Given the description of an element on the screen output the (x, y) to click on. 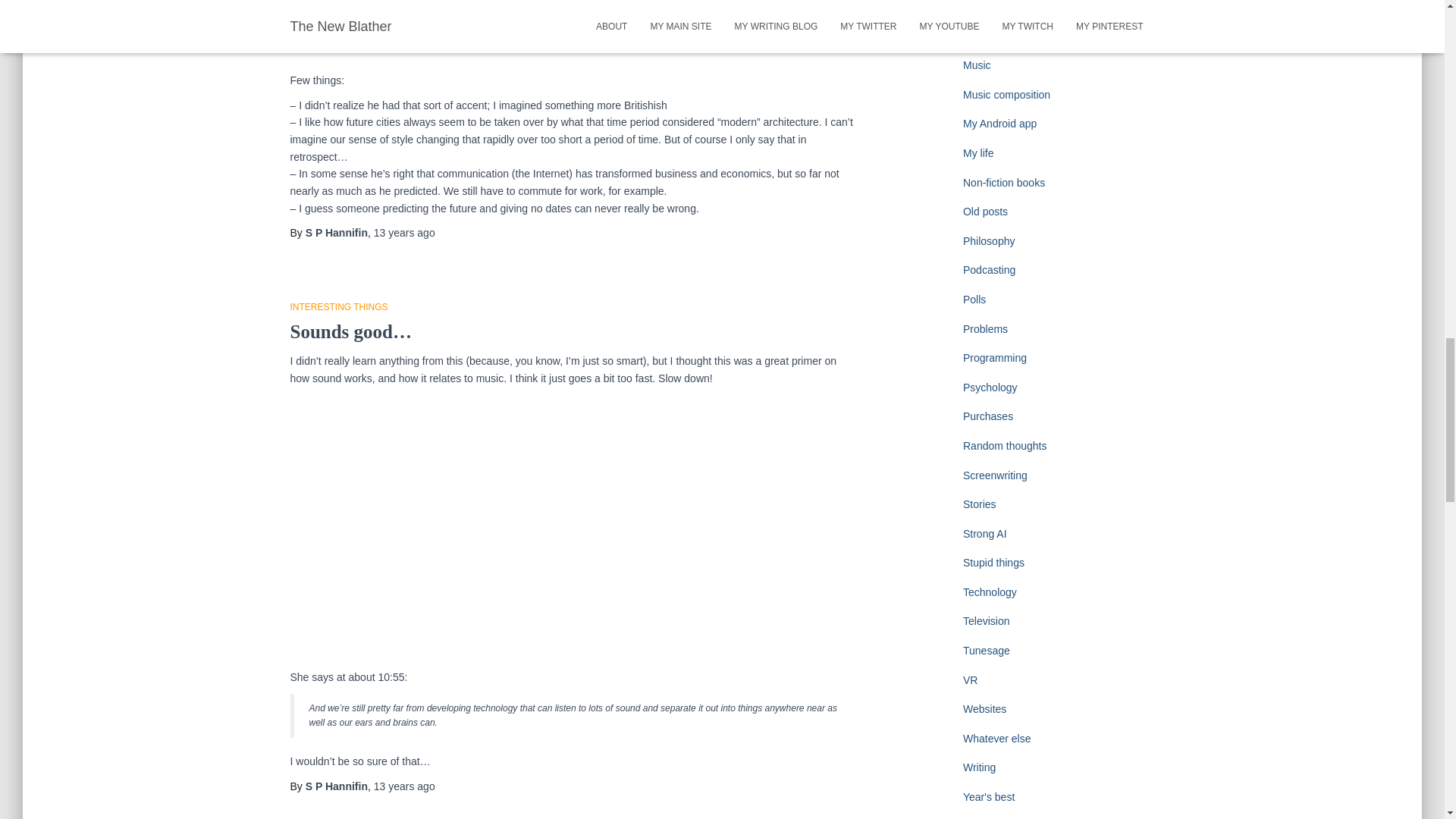
13 years ago (404, 232)
13 years ago (404, 786)
INTERESTING THINGS (338, 307)
S P Hannifin (336, 232)
S P Hannifin (336, 786)
